Given the description of an element on the screen output the (x, y) to click on. 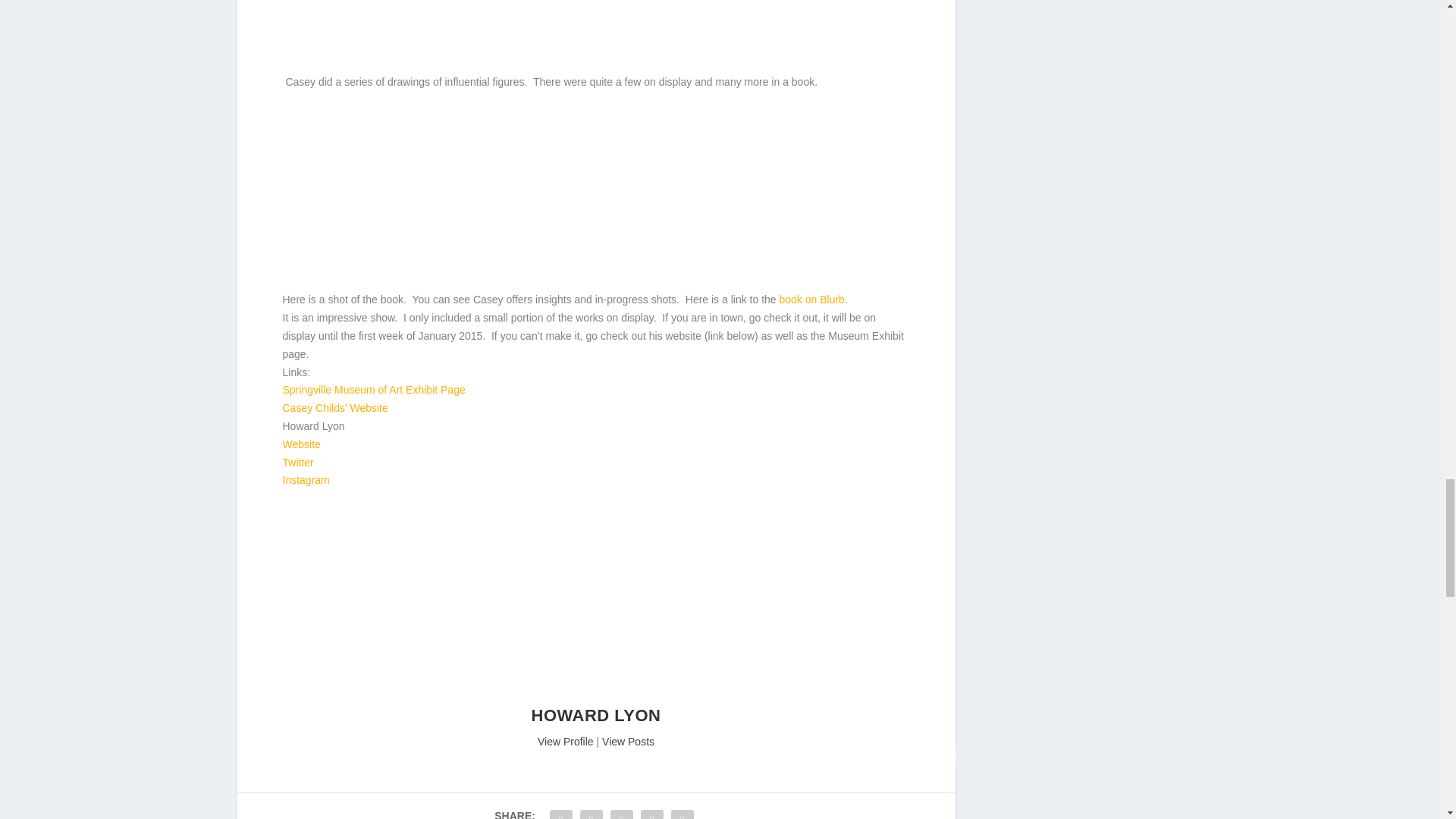
About the author (565, 741)
View all posts by Howard Lyon (596, 714)
About the author (596, 696)
